Given the description of an element on the screen output the (x, y) to click on. 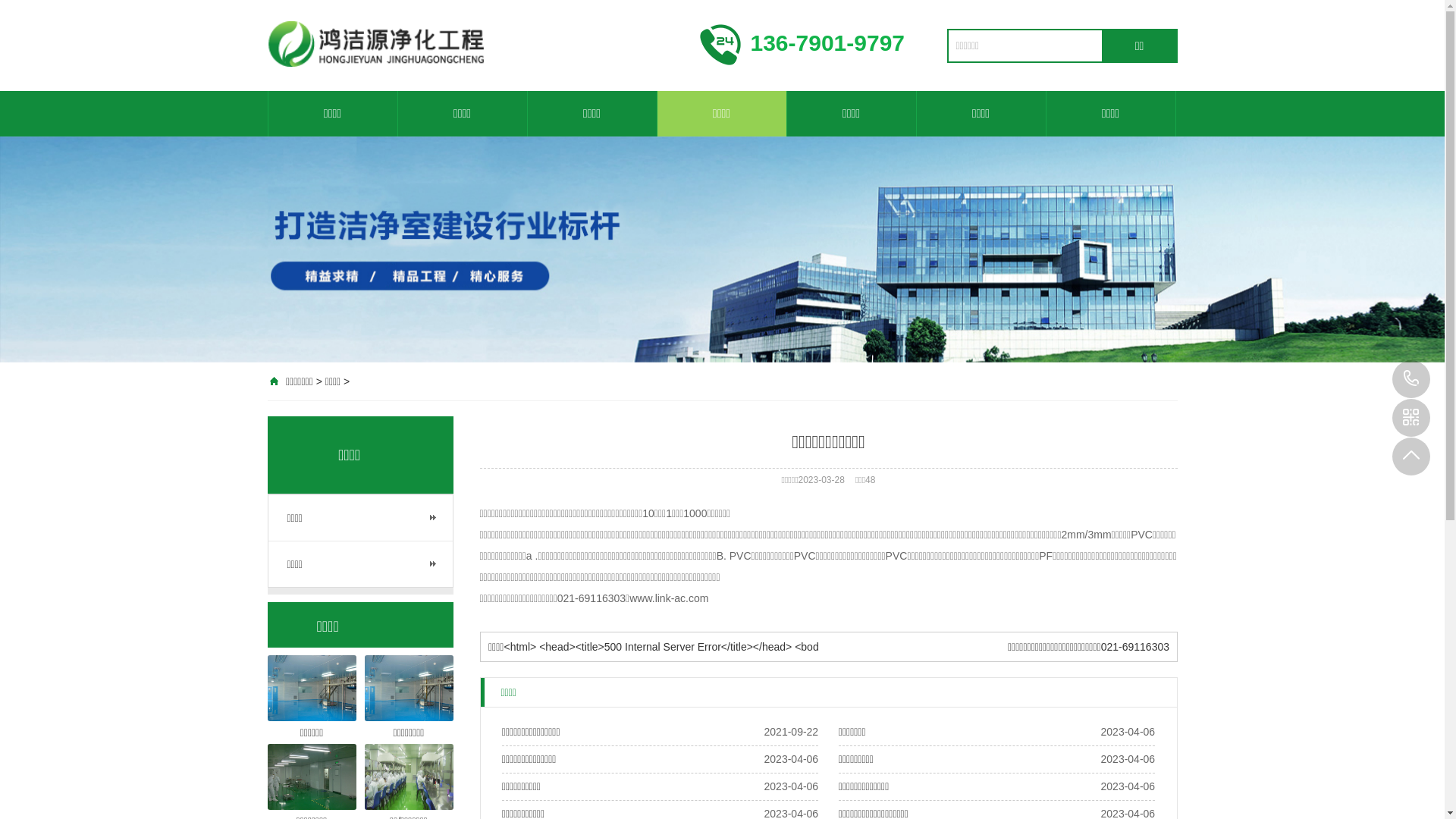
136-7901-9797 Element type: text (1411, 379)
